Given the description of an element on the screen output the (x, y) to click on. 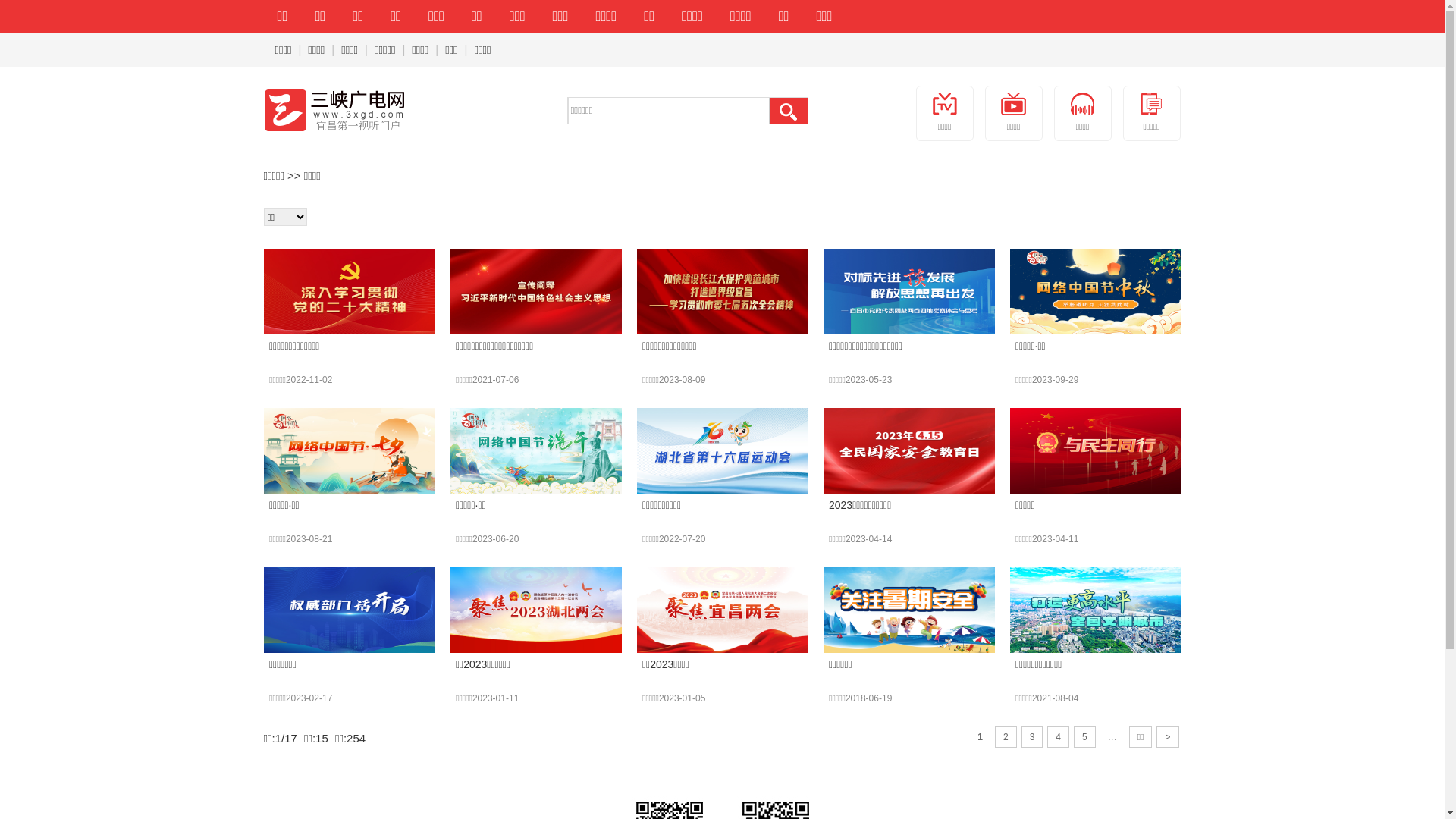
2 Element type: text (1005, 736)
5 Element type: text (1084, 736)
4 Element type: text (1058, 736)
> Element type: text (1167, 736)
3 Element type: text (1032, 736)
